Given the description of an element on the screen output the (x, y) to click on. 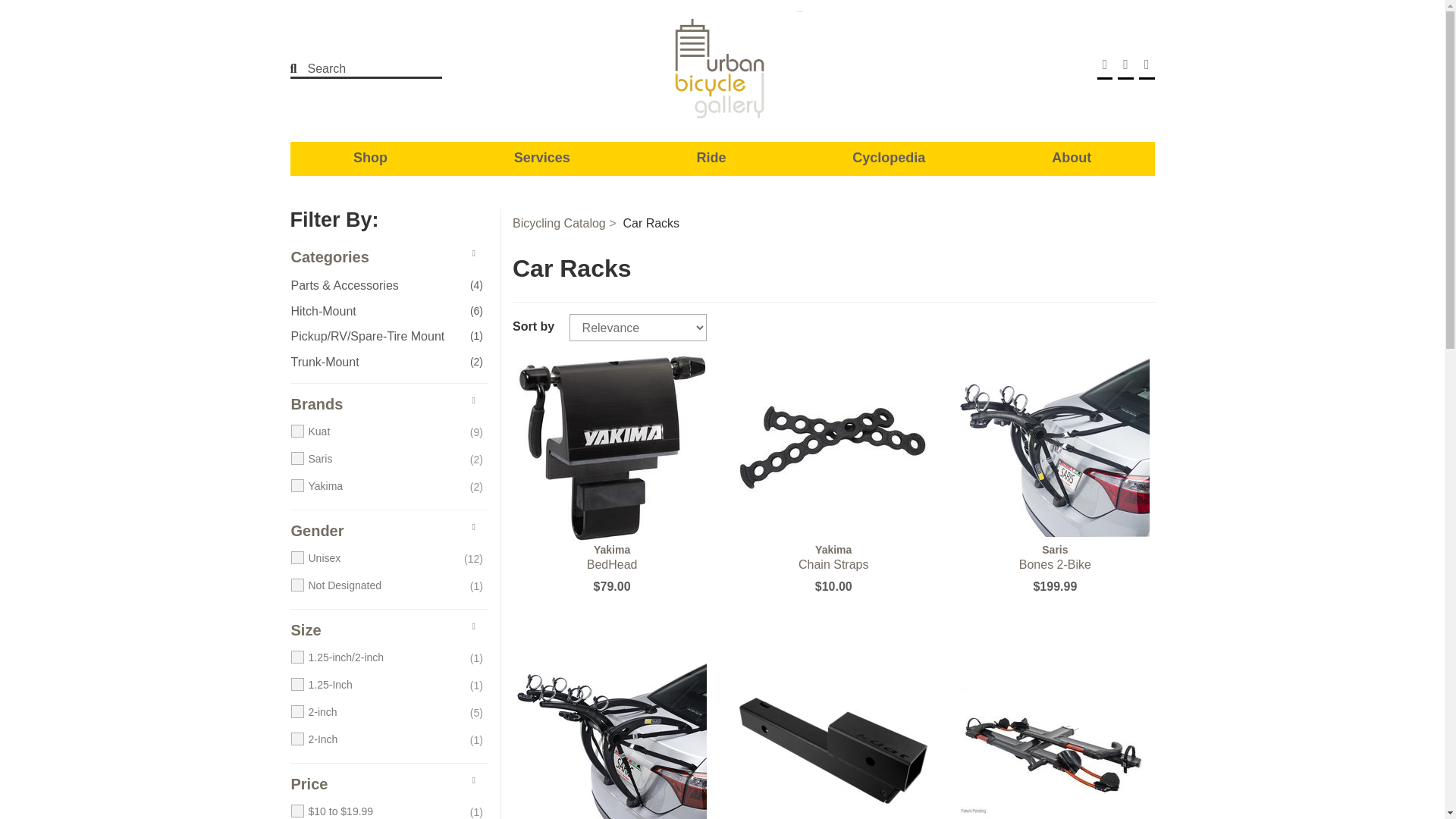
Urban Bicycle Gallery Home Page (721, 68)
Trunk-Mount (374, 362)
Search (356, 68)
Hitch-Mount (374, 312)
Shop (370, 157)
